Given the description of an element on the screen output the (x, y) to click on. 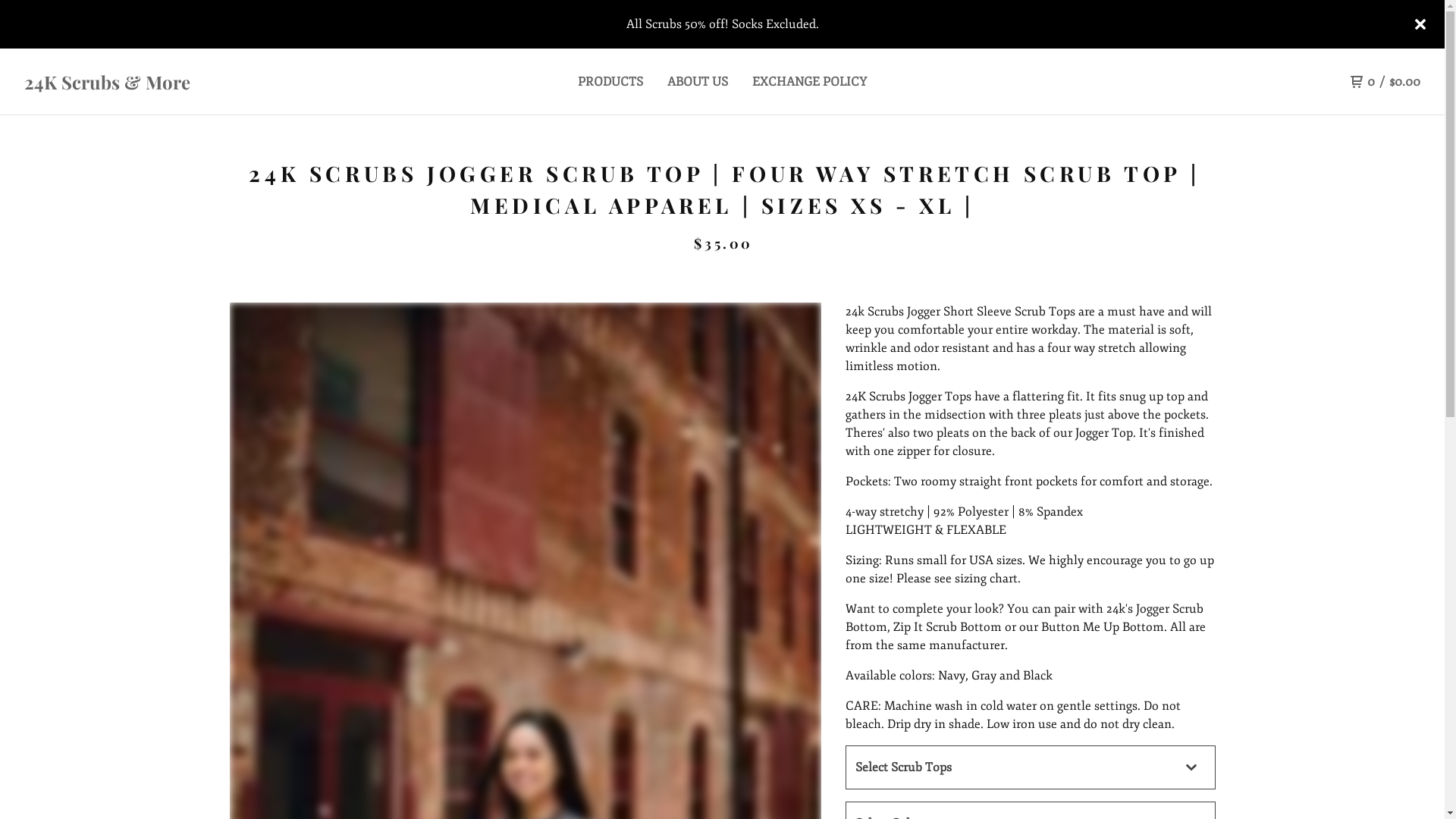
PRODUCTS Element type: text (610, 81)
24K Scrubs & More Element type: text (198, 81)
0
/
$0.00 Element type: text (1385, 81)
EXCHANGE POLICY Element type: text (809, 81)
Close announcement message Element type: hover (1420, 24)
ABOUT US Element type: text (697, 81)
